Given the description of an element on the screen output the (x, y) to click on. 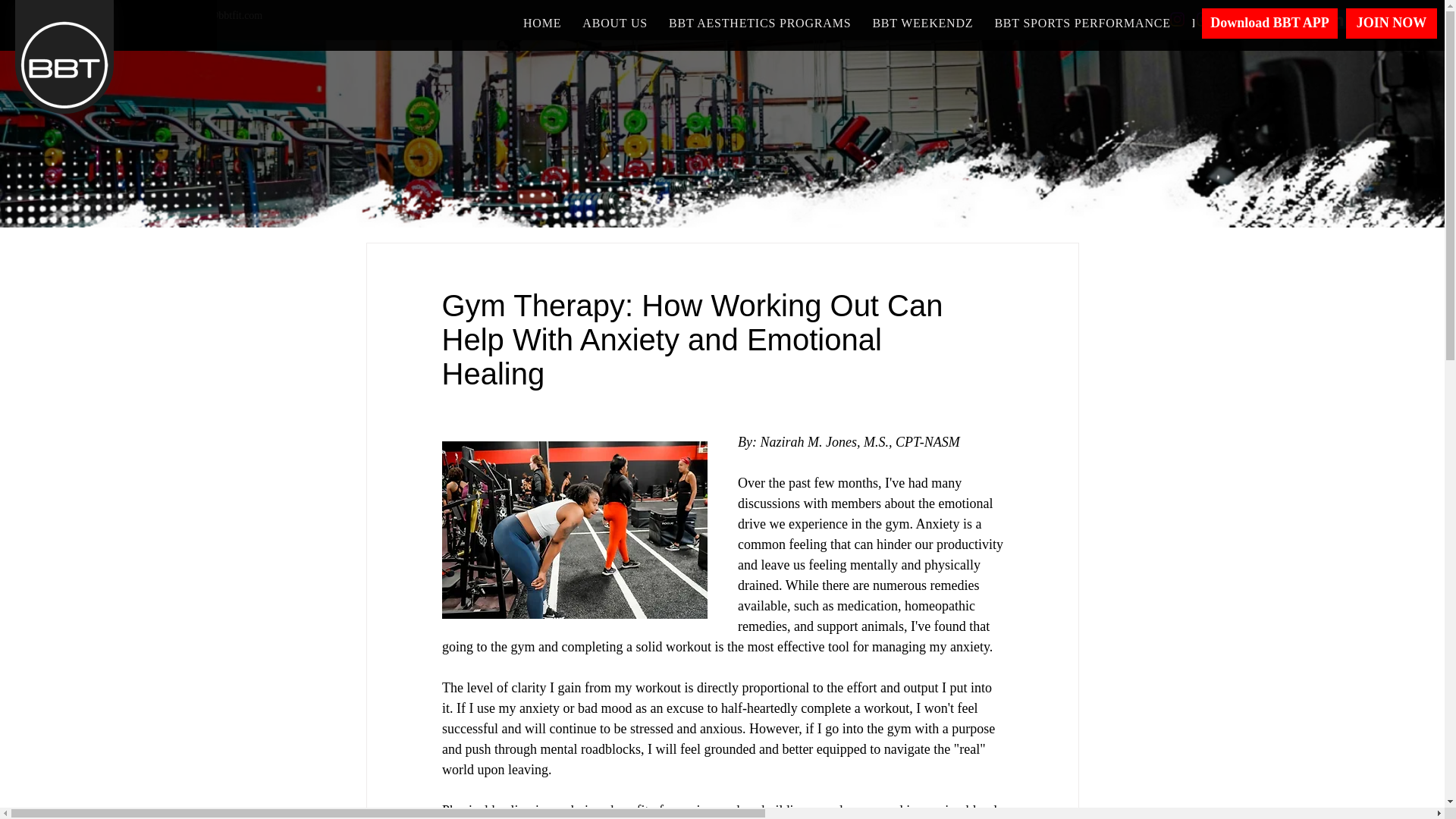
HOME (542, 23)
